Given the description of an element on the screen output the (x, y) to click on. 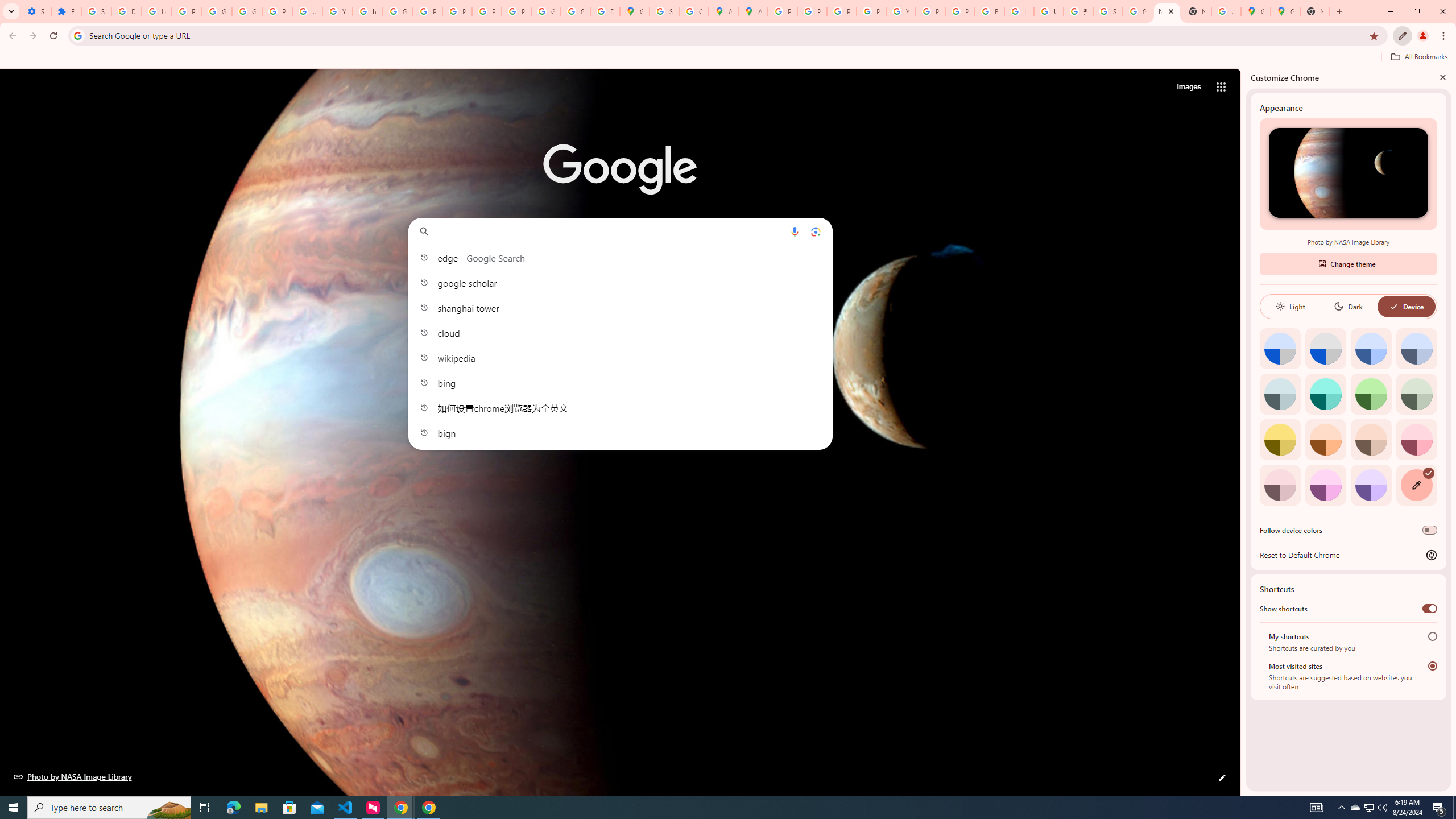
Custom color (1416, 484)
Extensions (65, 11)
Sign in - Google Accounts (95, 11)
Customize this page (1221, 778)
Google Maps (1284, 11)
Google Maps (652, 287)
Google Maps (1255, 11)
Privacy Help Center - Policies Help (426, 11)
YouTube (900, 11)
Google Maps (634, 11)
Search by voice (794, 230)
Chrome Web Store (778, 287)
